Given the description of an element on the screen output the (x, y) to click on. 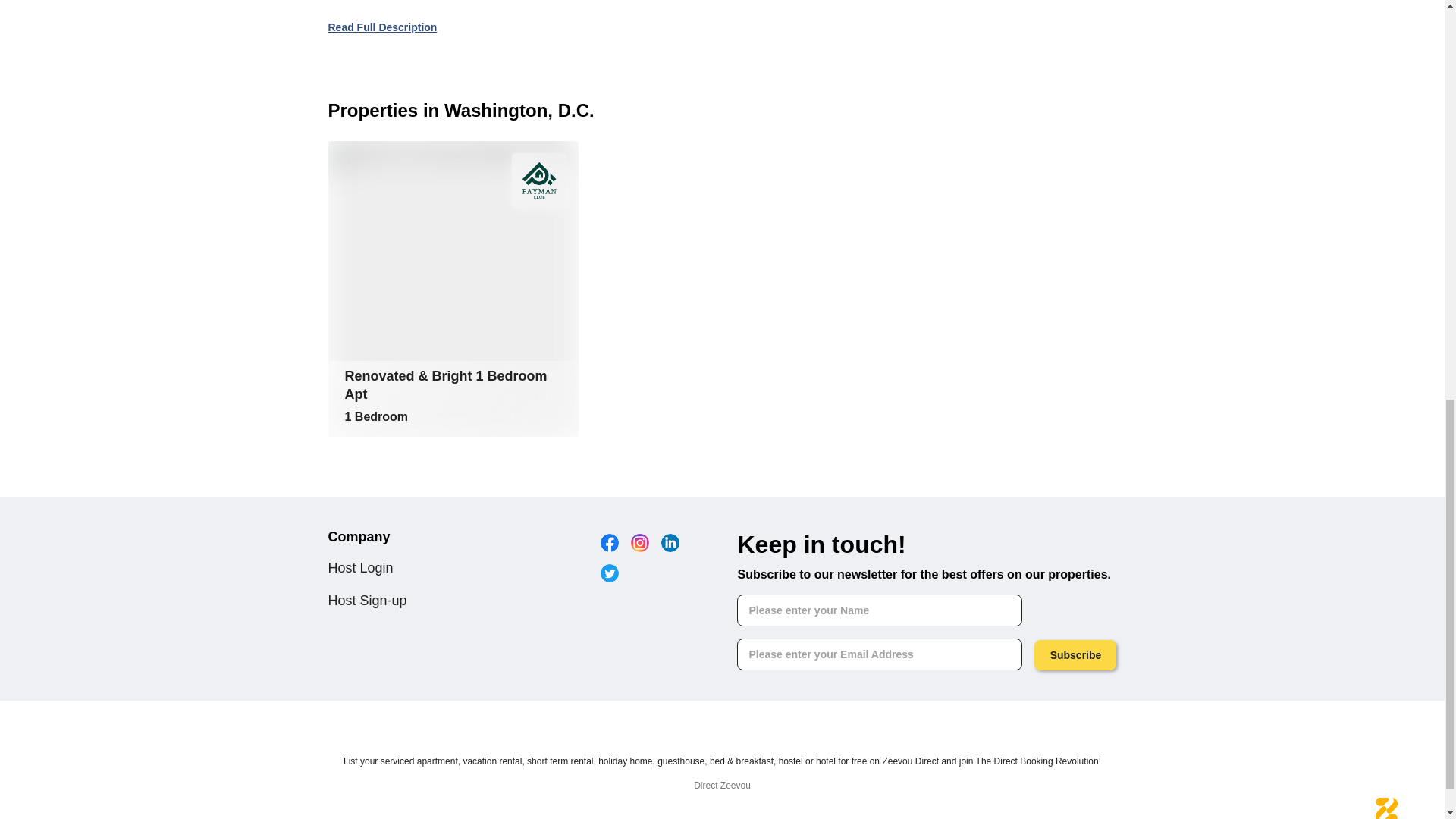
Host Login (360, 567)
Read Full Description (381, 27)
Subscribe (1074, 654)
Host Sign-up (366, 600)
Powered by Zeevou (1386, 808)
